Given the description of an element on the screen output the (x, y) to click on. 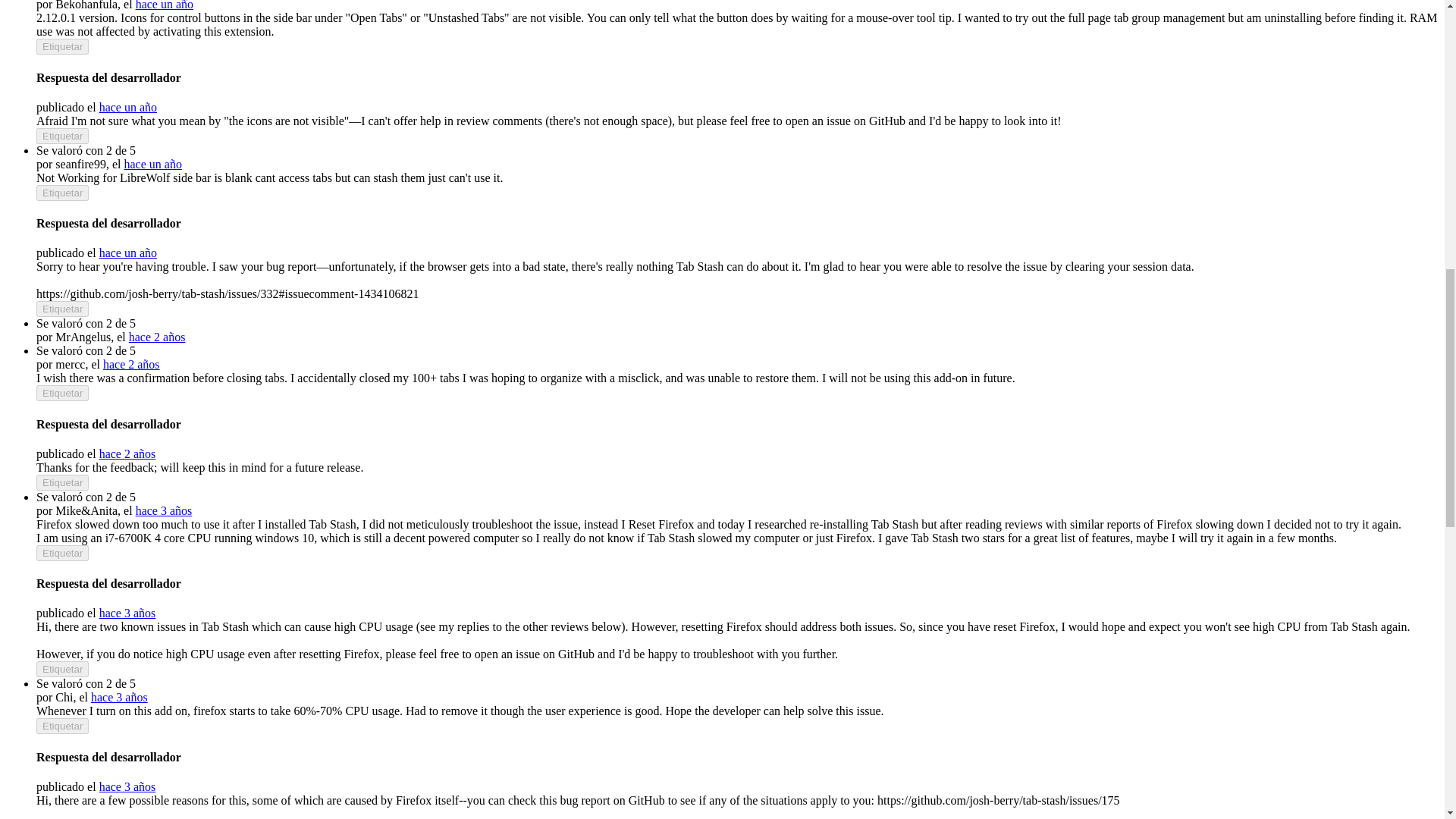
Etiquetar (62, 192)
Etiquetar (62, 668)
Etiquetar (62, 46)
Etiquetar (62, 135)
Etiquetar (62, 392)
Etiquetar (62, 308)
Etiquetar (62, 553)
Etiquetar (62, 482)
